Given the description of an element on the screen output the (x, y) to click on. 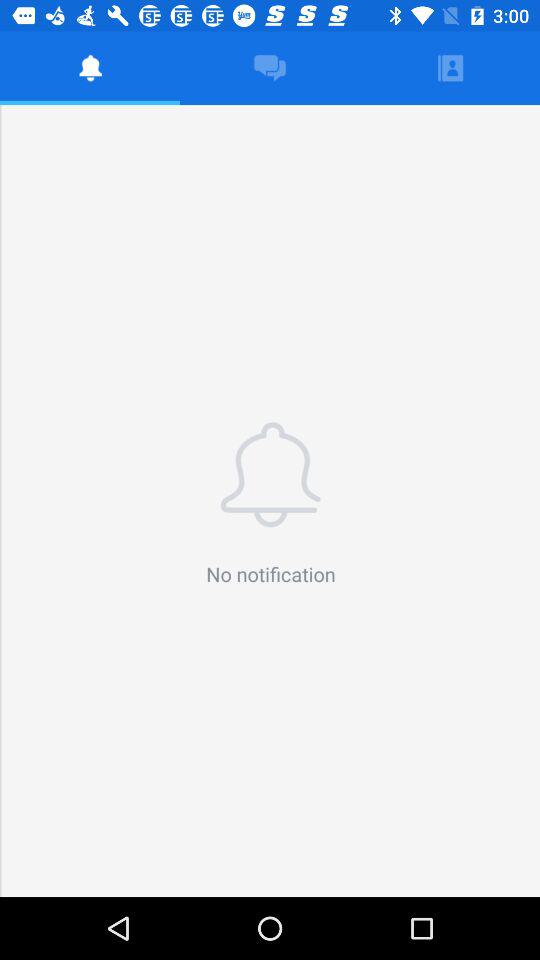
select the icon on the top right of the web page (449, 68)
